Given the description of an element on the screen output the (x, y) to click on. 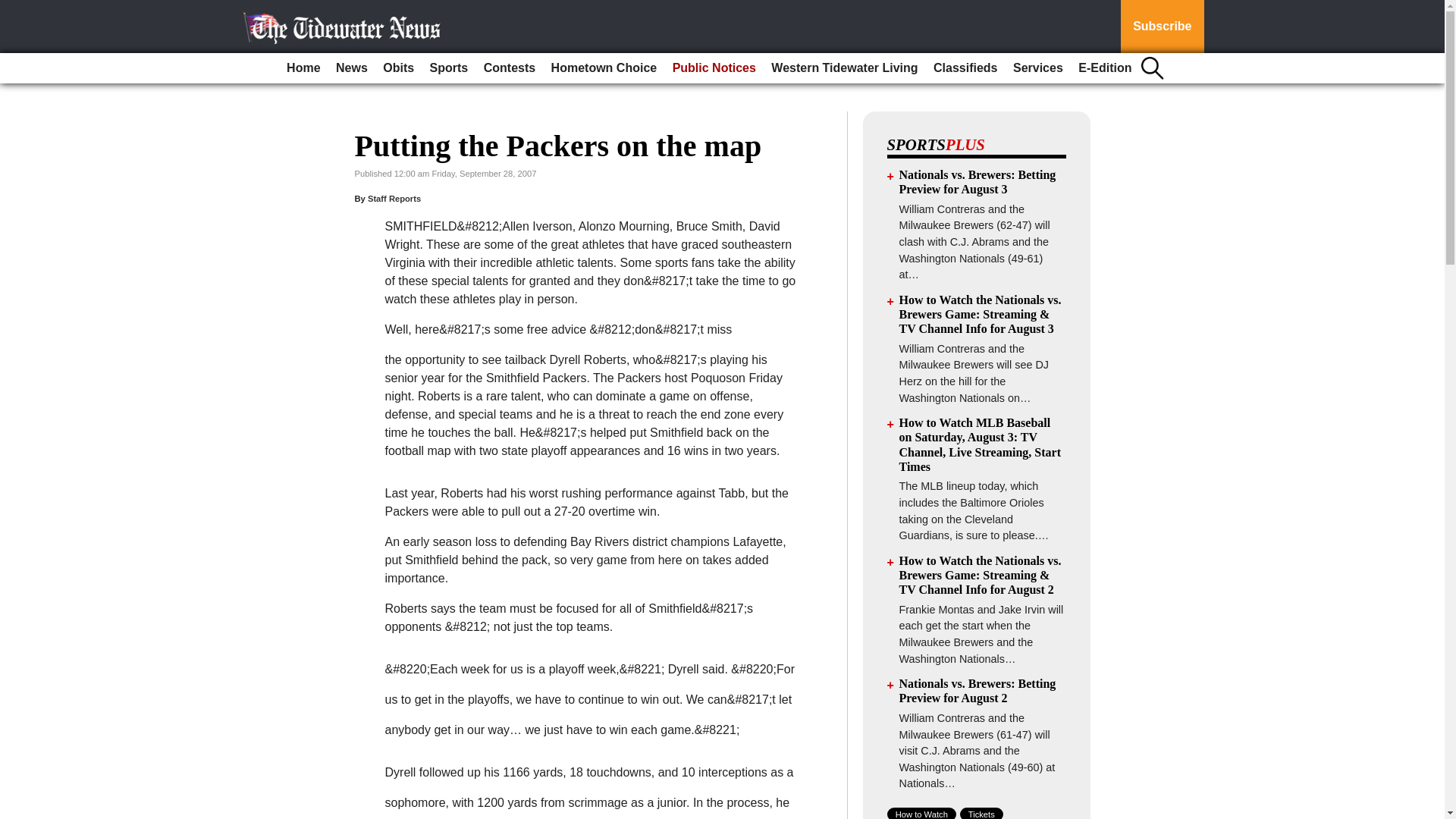
Hometown Choice (603, 68)
Western Tidewater Living (844, 68)
Sports (448, 68)
Obits (398, 68)
News (352, 68)
Public Notices (713, 68)
Nationals vs. Brewers: Betting Preview for August 3 (978, 181)
Staff Reports (394, 198)
Classifieds (965, 68)
Services (1037, 68)
E-Edition (1104, 68)
Home (303, 68)
Go (13, 9)
Contests (509, 68)
Subscribe (1162, 26)
